Given the description of an element on the screen output the (x, y) to click on. 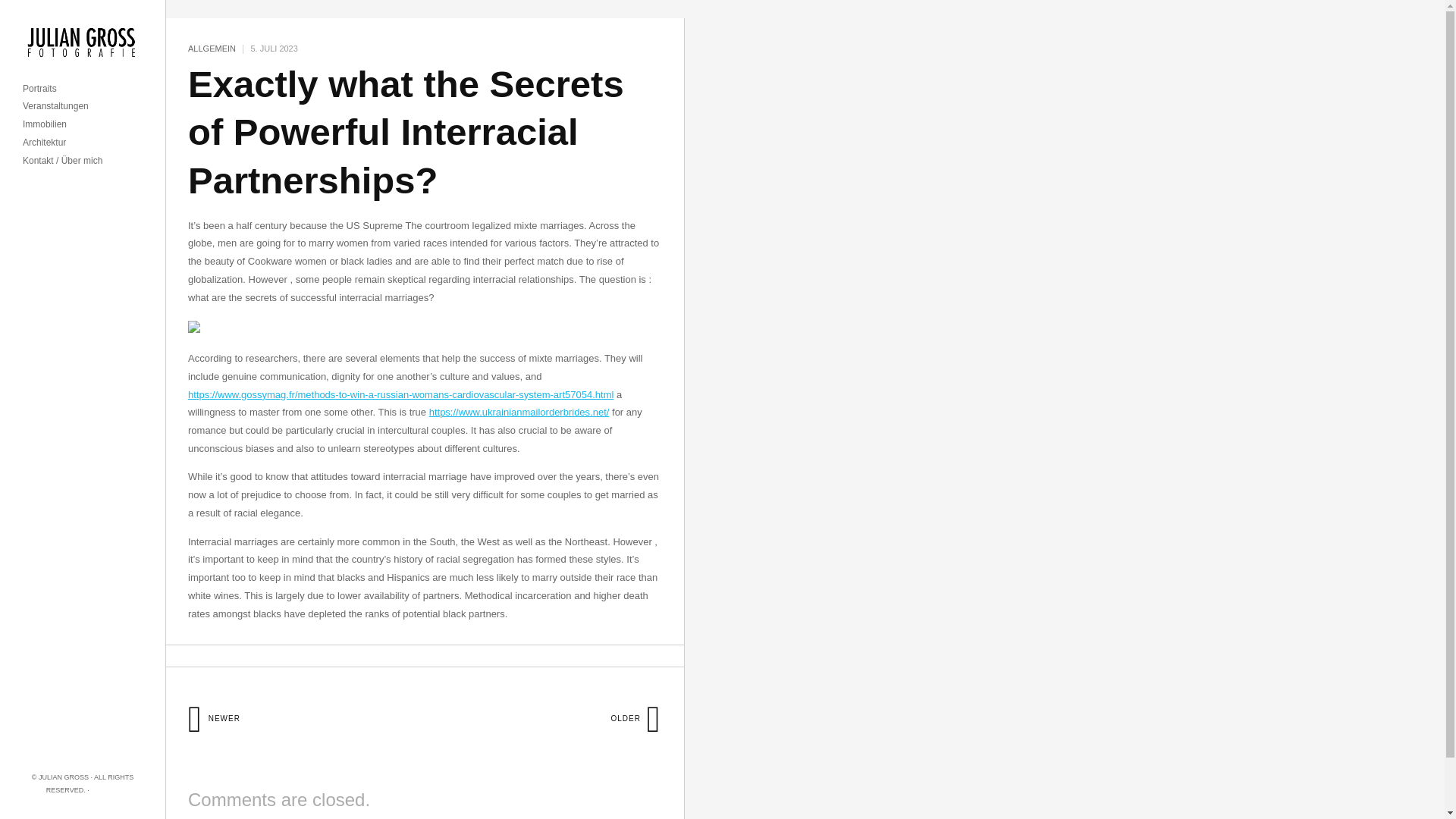
Portraits (39, 89)
ALLGEMEIN (211, 48)
OLDER (636, 718)
Immobilien (44, 124)
NEWER (213, 718)
IMPRINT (104, 789)
Architektur (44, 143)
Veranstaltungen (55, 106)
